Given the description of an element on the screen output the (x, y) to click on. 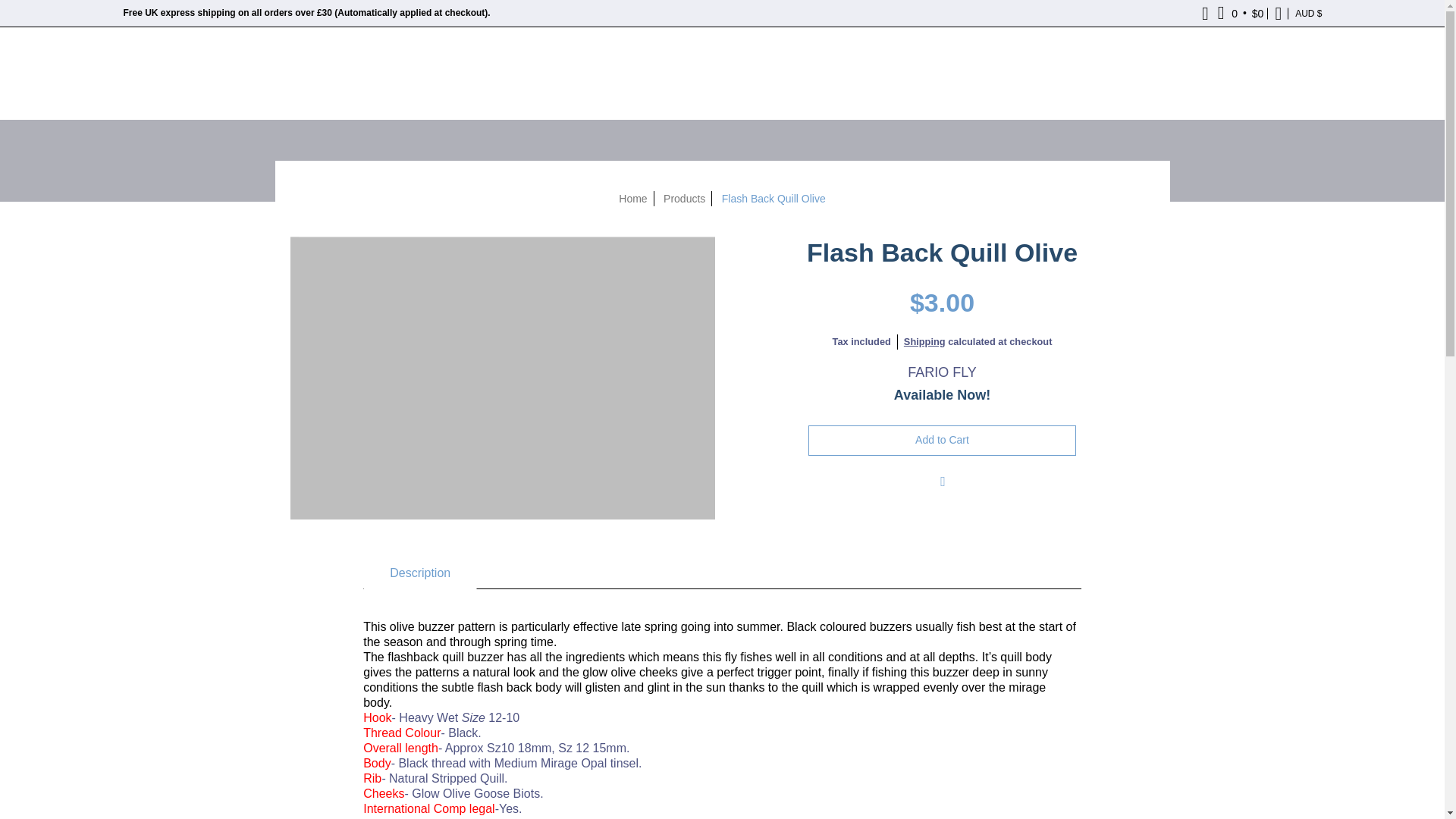
Add to Cart (941, 440)
Update store currency (1307, 13)
Cart (1240, 13)
